Given the description of an element on the screen output the (x, y) to click on. 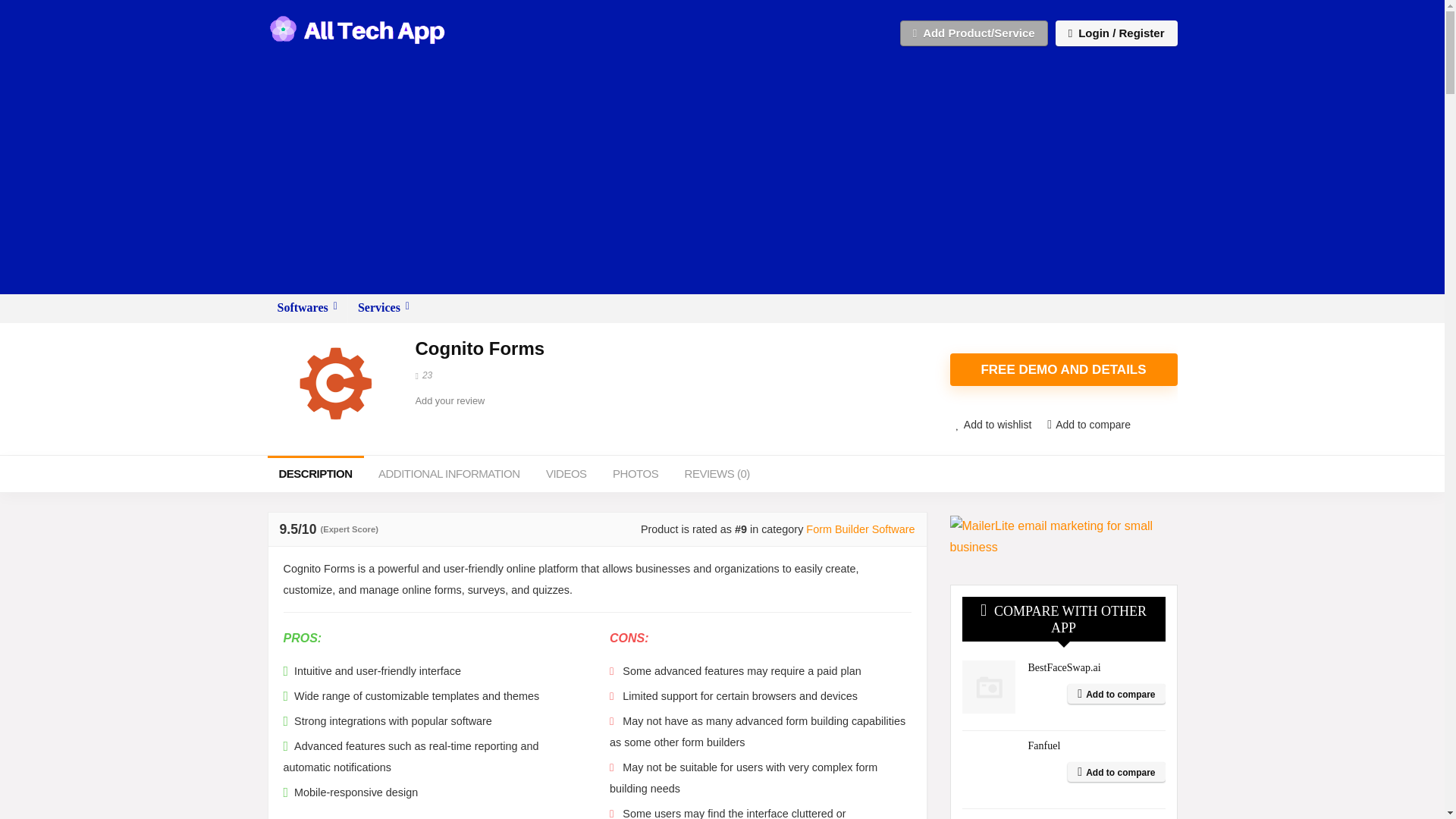
Softwares (306, 308)
MailerLite email marketing for small business (1062, 536)
ADDITIONAL INFORMATION (448, 473)
VIDEOS (566, 473)
Services (383, 308)
PHOTOS (635, 473)
DESCRIPTION (314, 473)
Add your review (449, 400)
Form Builder Software (860, 529)
